Given the description of an element on the screen output the (x, y) to click on. 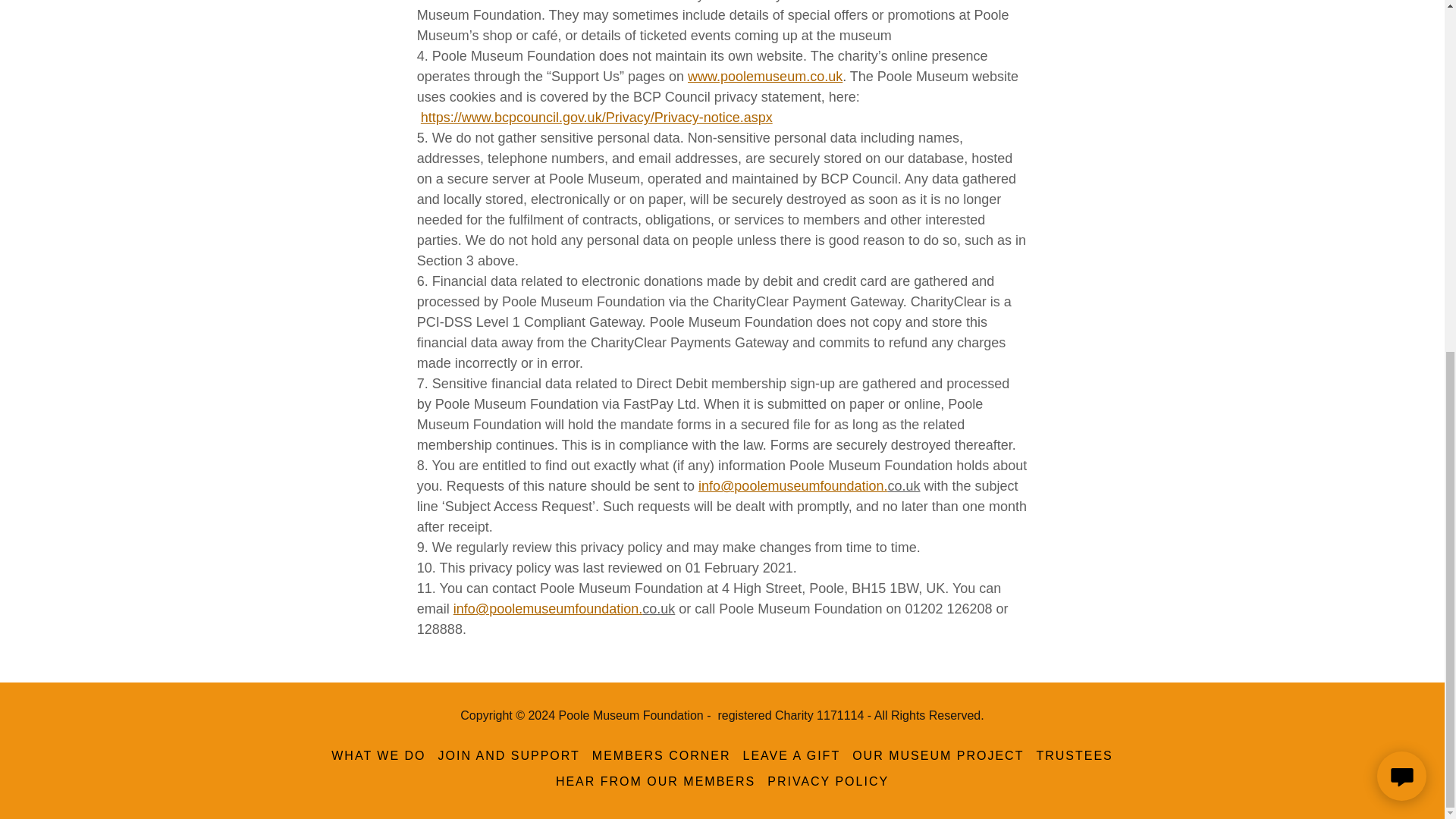
www.poolemuseum.co.uk (765, 76)
